Given the description of an element on the screen output the (x, y) to click on. 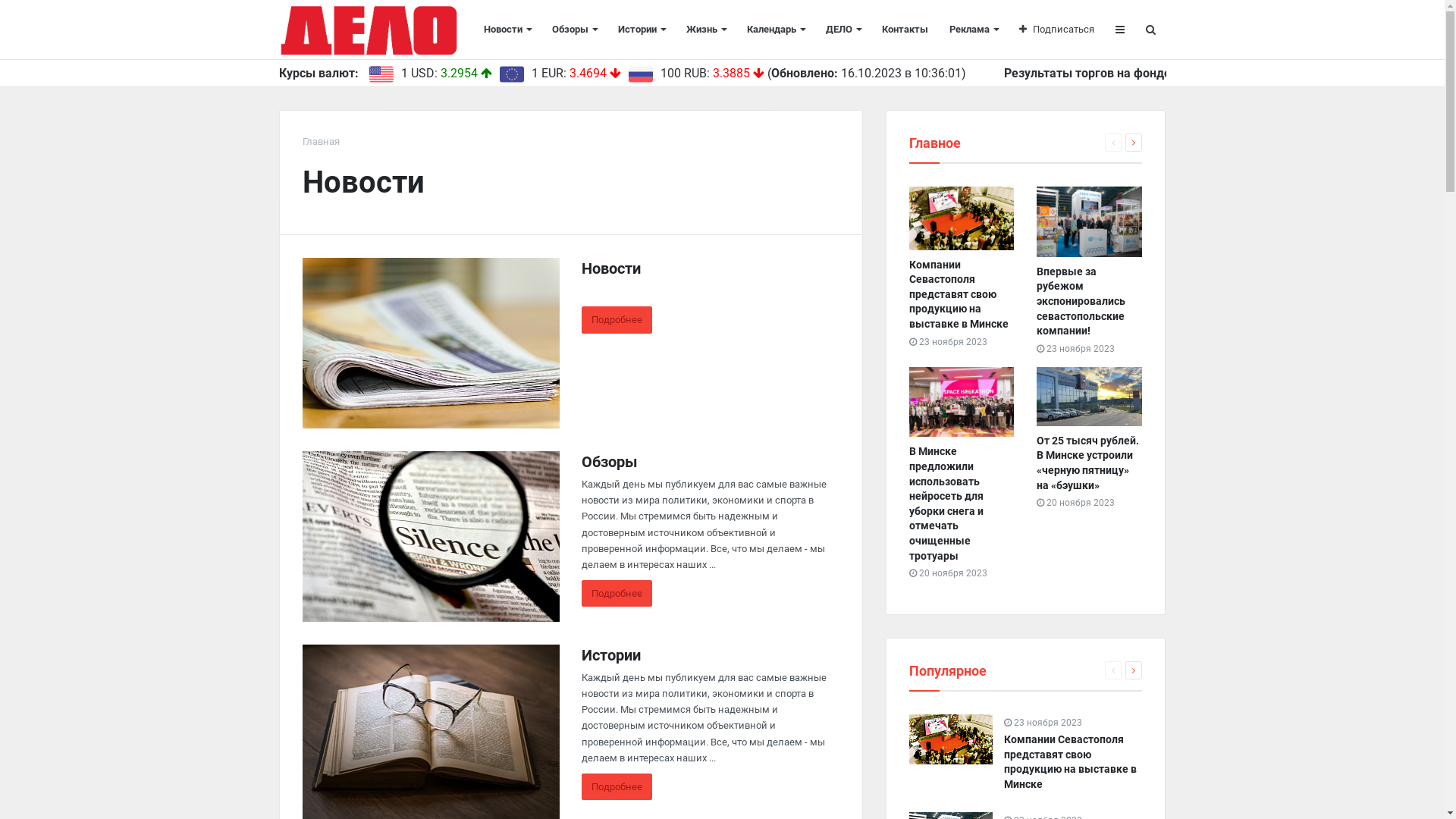
USD Element type: hover (380, 74)
EUR Element type: hover (510, 74)
RUB Element type: hover (639, 74)
